Given the description of an element on the screen output the (x, y) to click on. 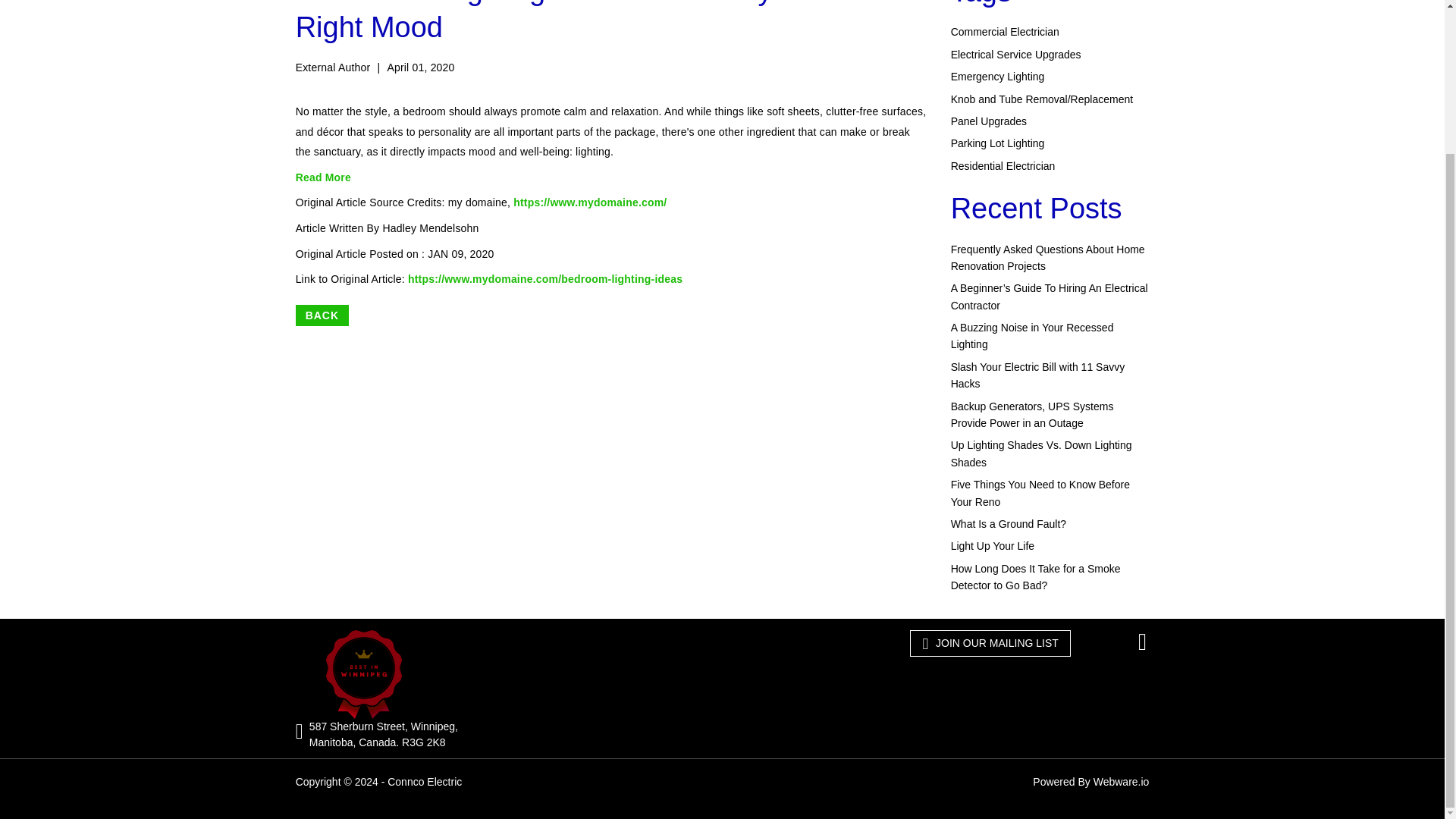
Read More (322, 177)
